Given the description of an element on the screen output the (x, y) to click on. 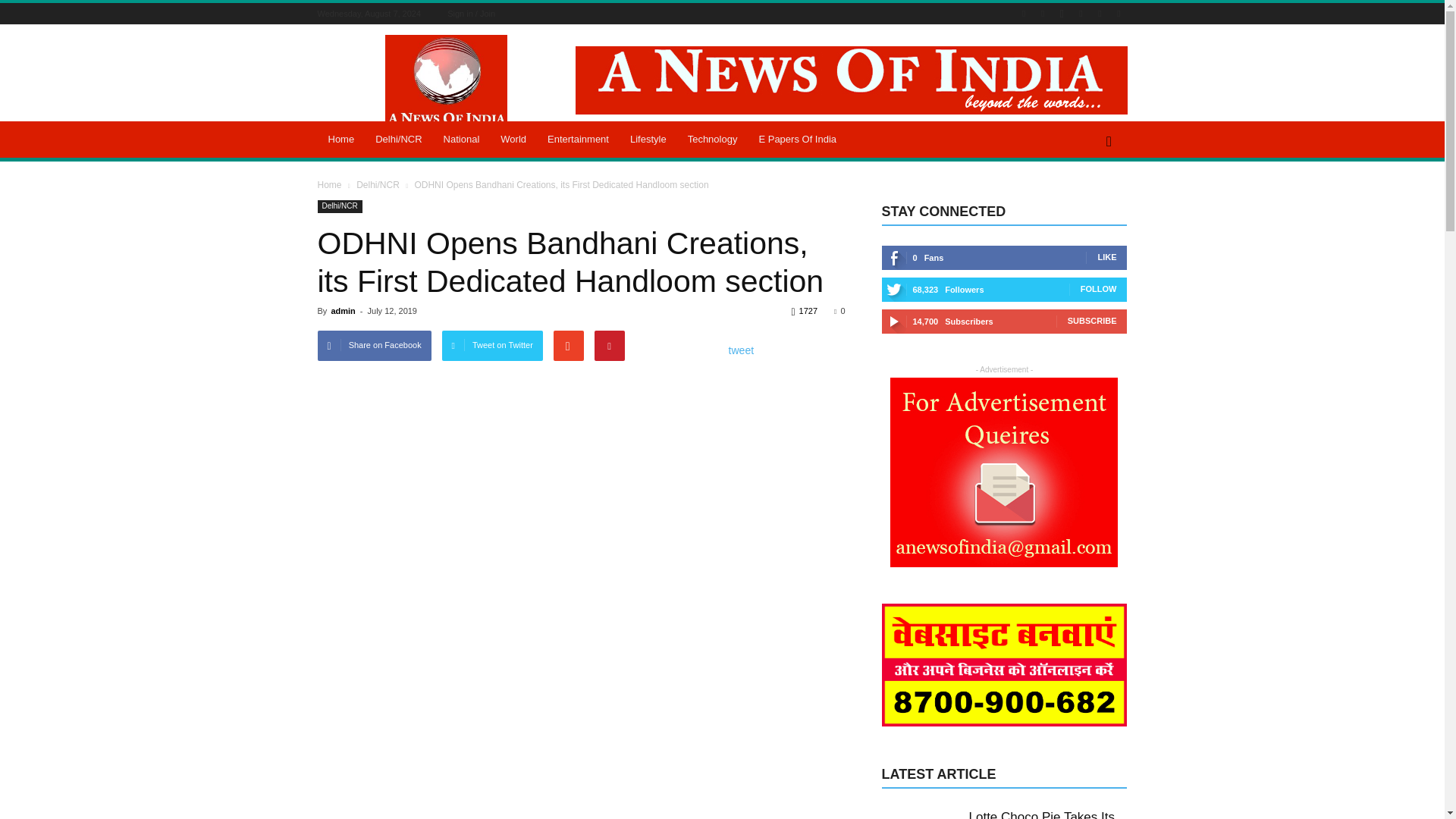
Vimeo (1099, 13)
Home (341, 139)
Facebook (1042, 13)
Twitter (1080, 13)
National (461, 139)
Entertainment (578, 139)
World (513, 139)
Behance (1023, 13)
VKontakte (1117, 13)
Instagram (1061, 13)
